Given the description of an element on the screen output the (x, y) to click on. 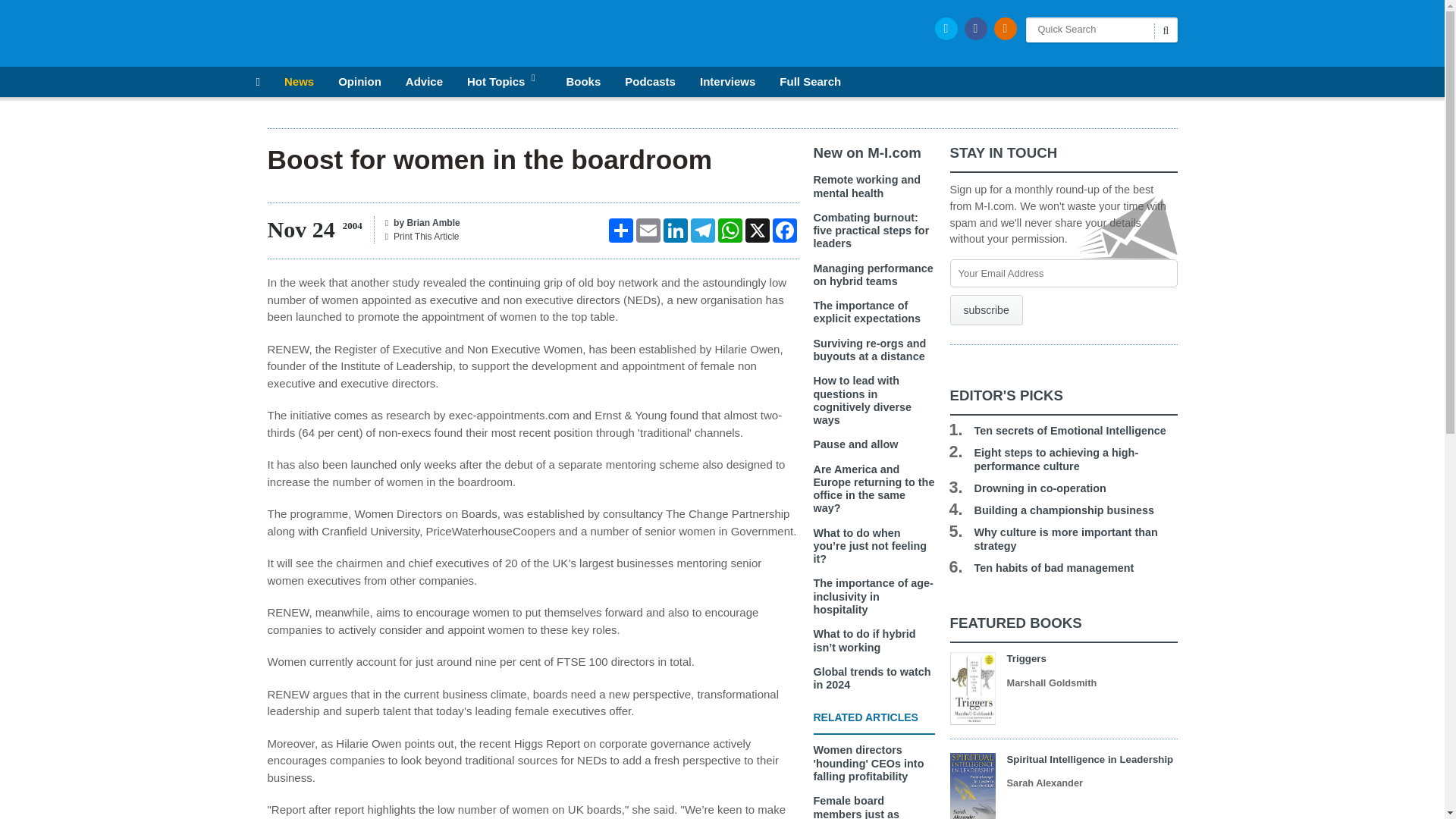
The importance of explicit expectations (866, 311)
Email (647, 230)
Advice (424, 81)
Interviews (727, 81)
Quick Search (1100, 29)
Facebook (783, 230)
News (298, 81)
Female board members just as experienced as men (864, 806)
Opinion (359, 81)
